Given the description of an element on the screen output the (x, y) to click on. 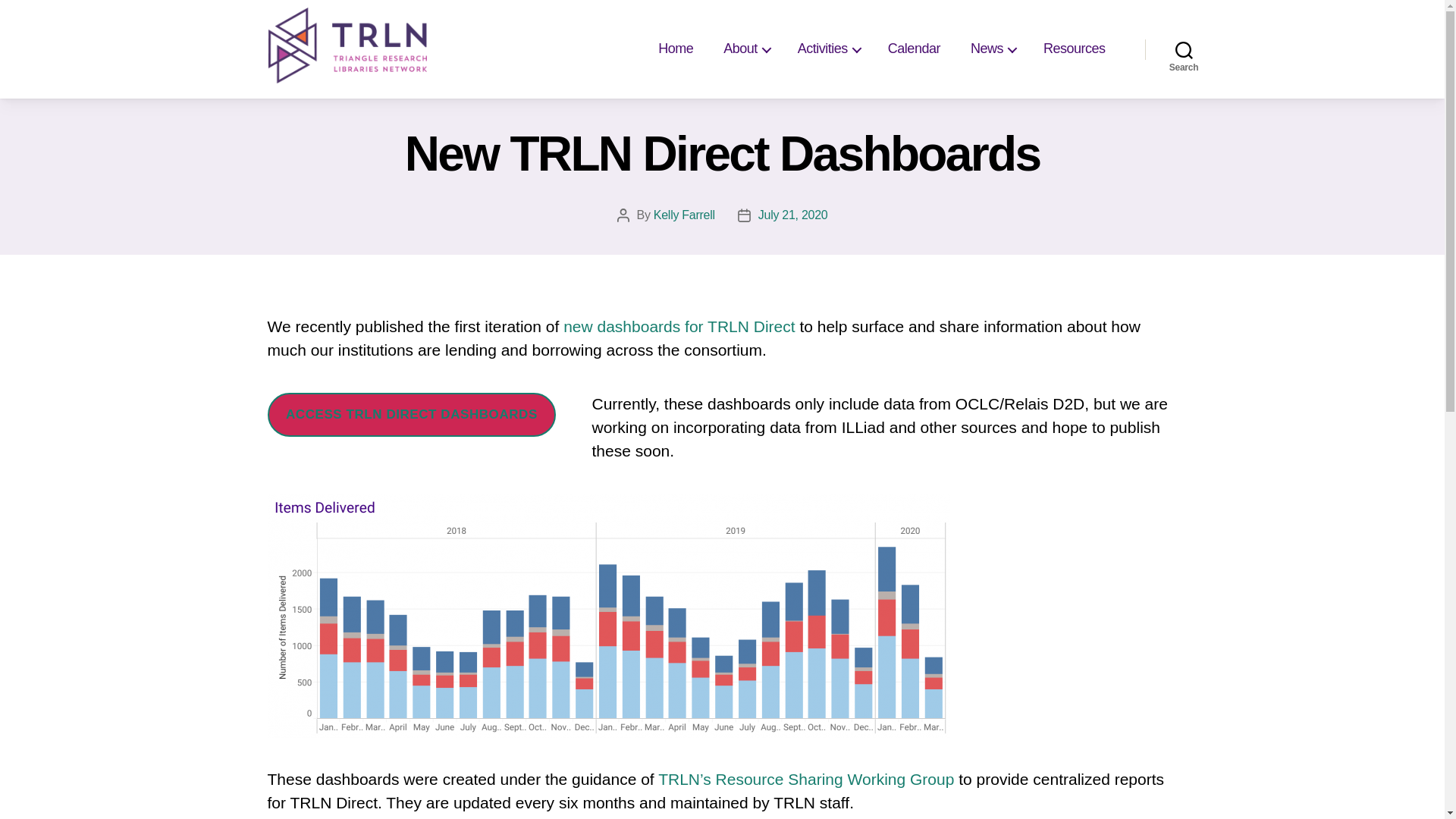
Triangle Research Libraries Network (346, 45)
Triangle Research Libraries Network (346, 45)
Activities (827, 49)
About (745, 49)
Home (675, 49)
Calendar (914, 49)
